Given the description of an element on the screen output the (x, y) to click on. 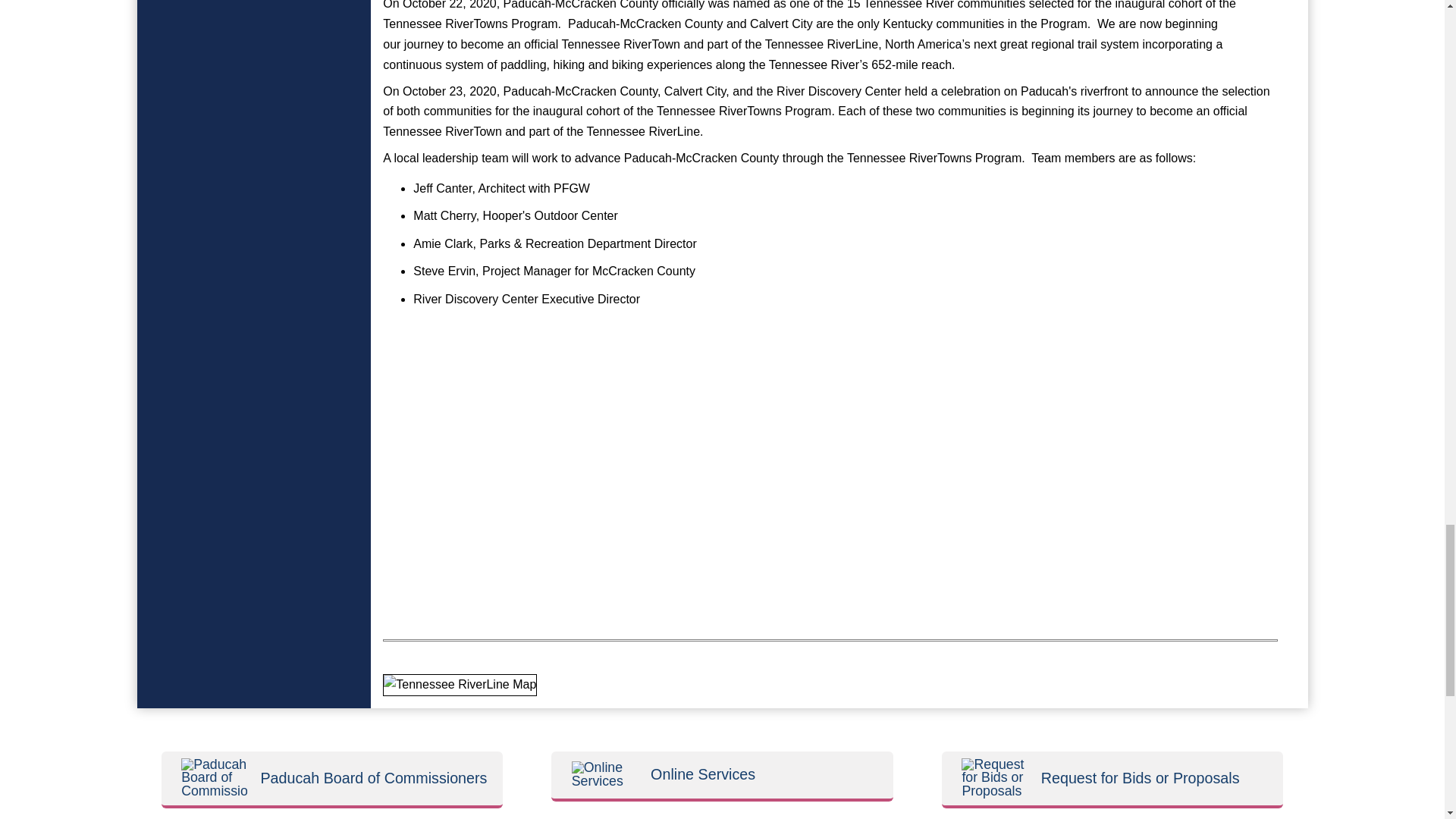
Request for Bids or Proposals (993, 778)
Online Services (604, 774)
Paducah Board of Commissioners (213, 778)
